Given the description of an element on the screen output the (x, y) to click on. 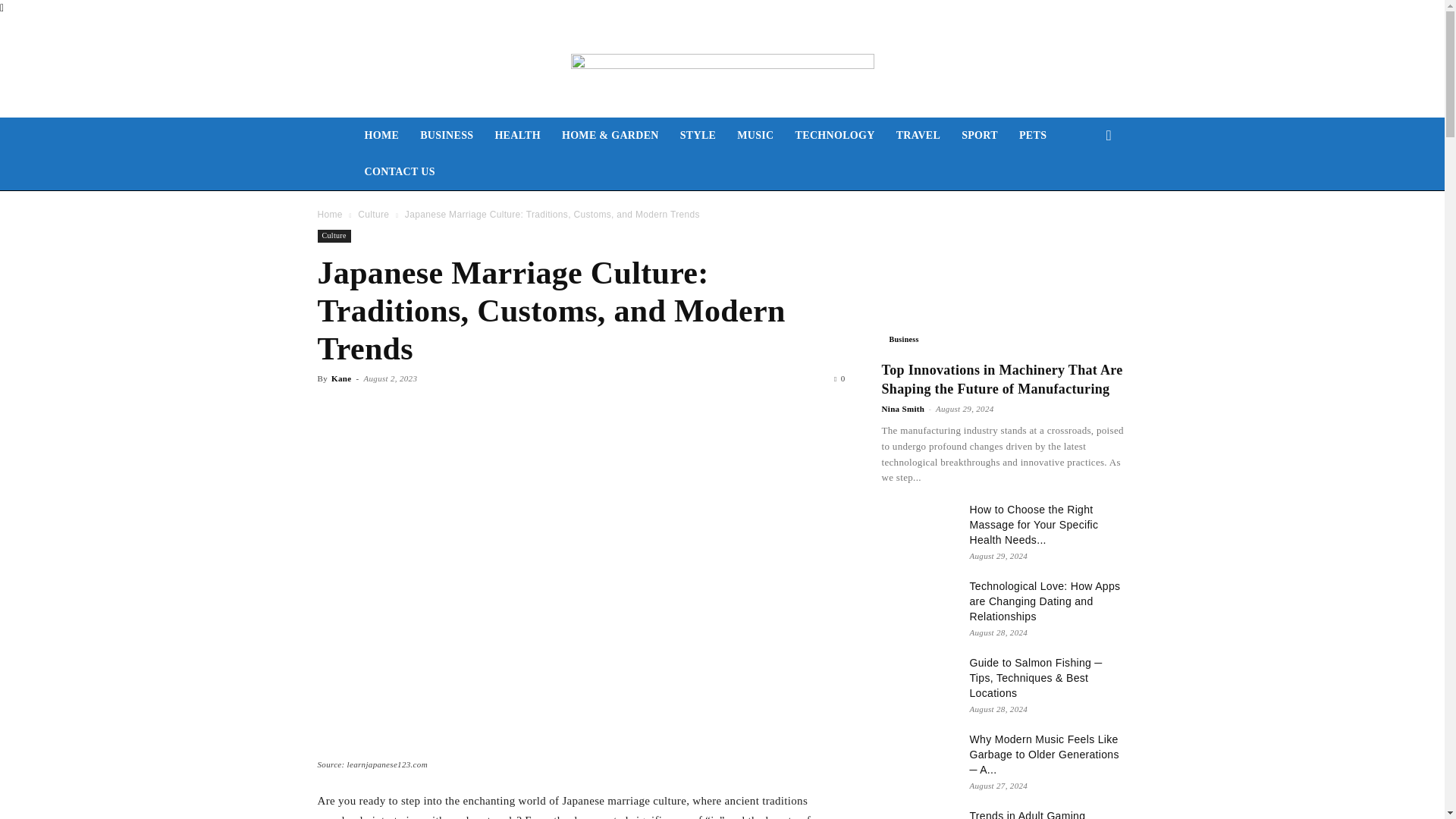
CONTACT US (399, 171)
BUSINESS (446, 135)
Culture (333, 236)
TECHNOLOGY (834, 135)
MUSIC (755, 135)
SPORT (979, 135)
HOME (381, 135)
TRAVEL (917, 135)
PETS (1033, 135)
STYLE (697, 135)
